Given the description of an element on the screen output the (x, y) to click on. 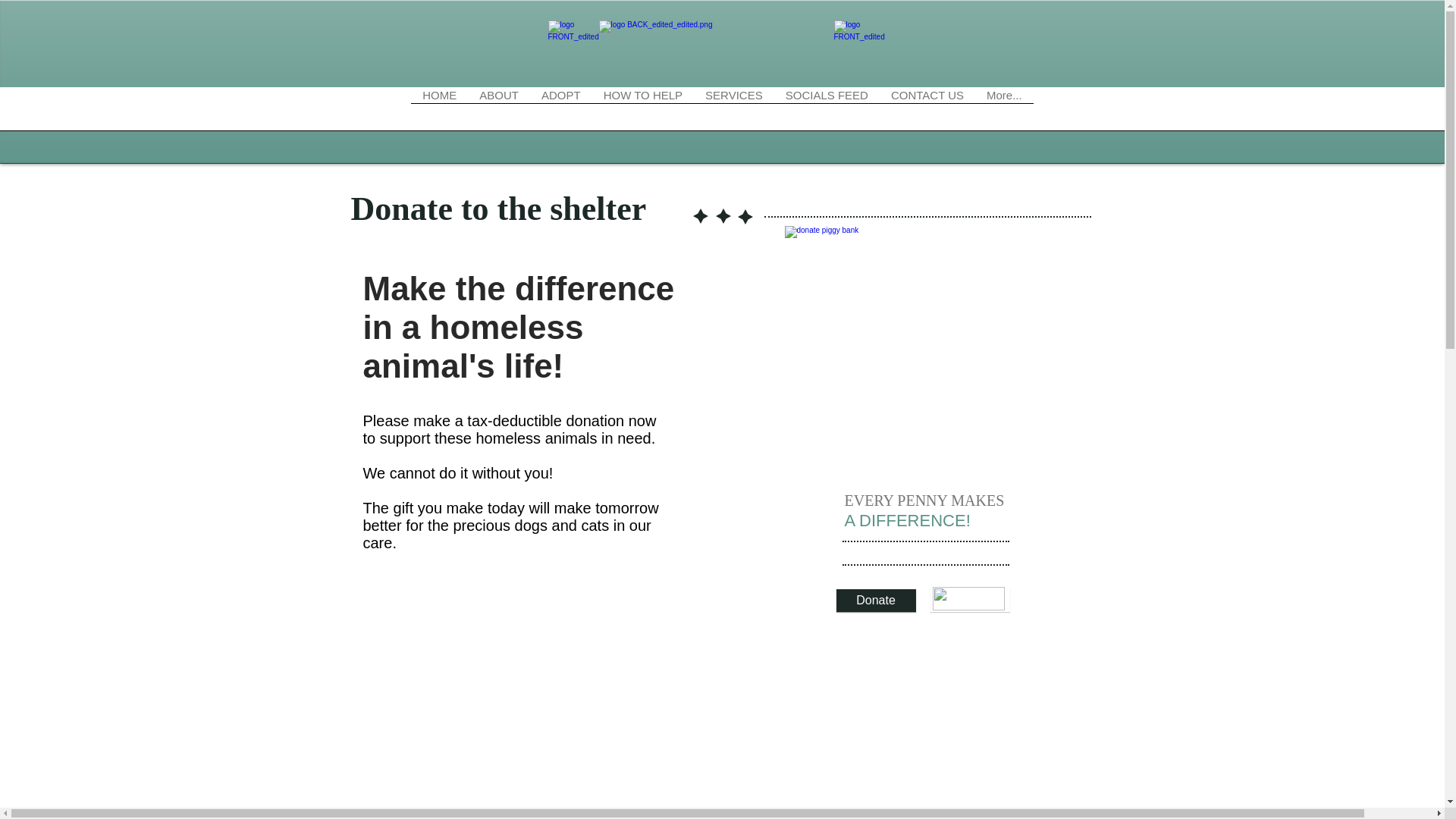
SERVICES (734, 113)
HOME (438, 113)
Donate (875, 599)
SOCIALS FEED (826, 113)
ABOUT (498, 113)
HOW TO HELP (643, 113)
CONTACT US (927, 113)
ADOPT (560, 113)
